Given the description of an element on the screen output the (x, y) to click on. 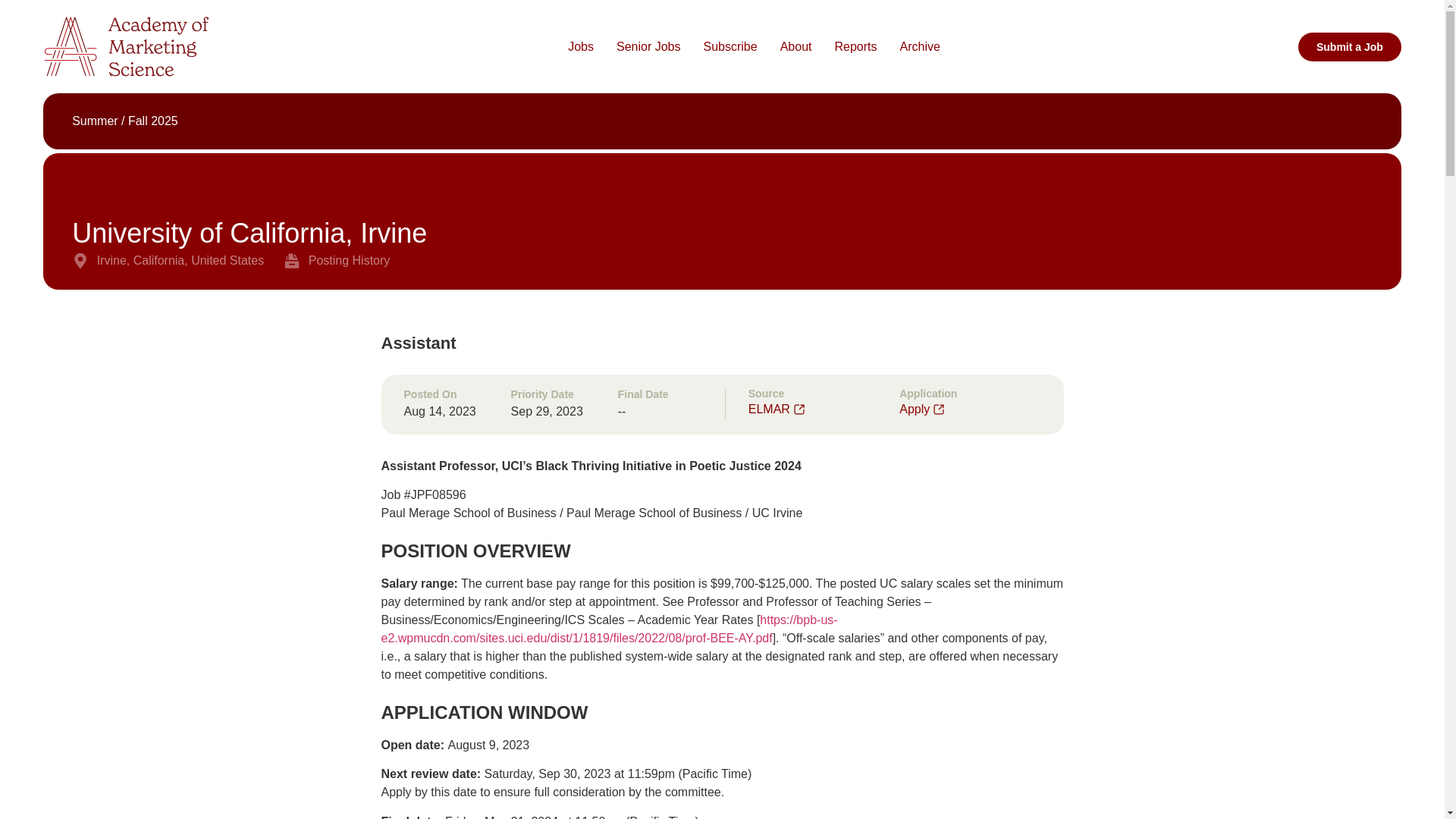
Reports (855, 46)
Senior Jobs (648, 46)
Submit a Job (1349, 45)
Irvine, California, United States (167, 260)
Apply (921, 409)
Jobs (580, 46)
Posting History (336, 260)
About (796, 46)
Subscribe (730, 46)
Archive (919, 46)
ELMAR (776, 409)
